Given the description of an element on the screen output the (x, y) to click on. 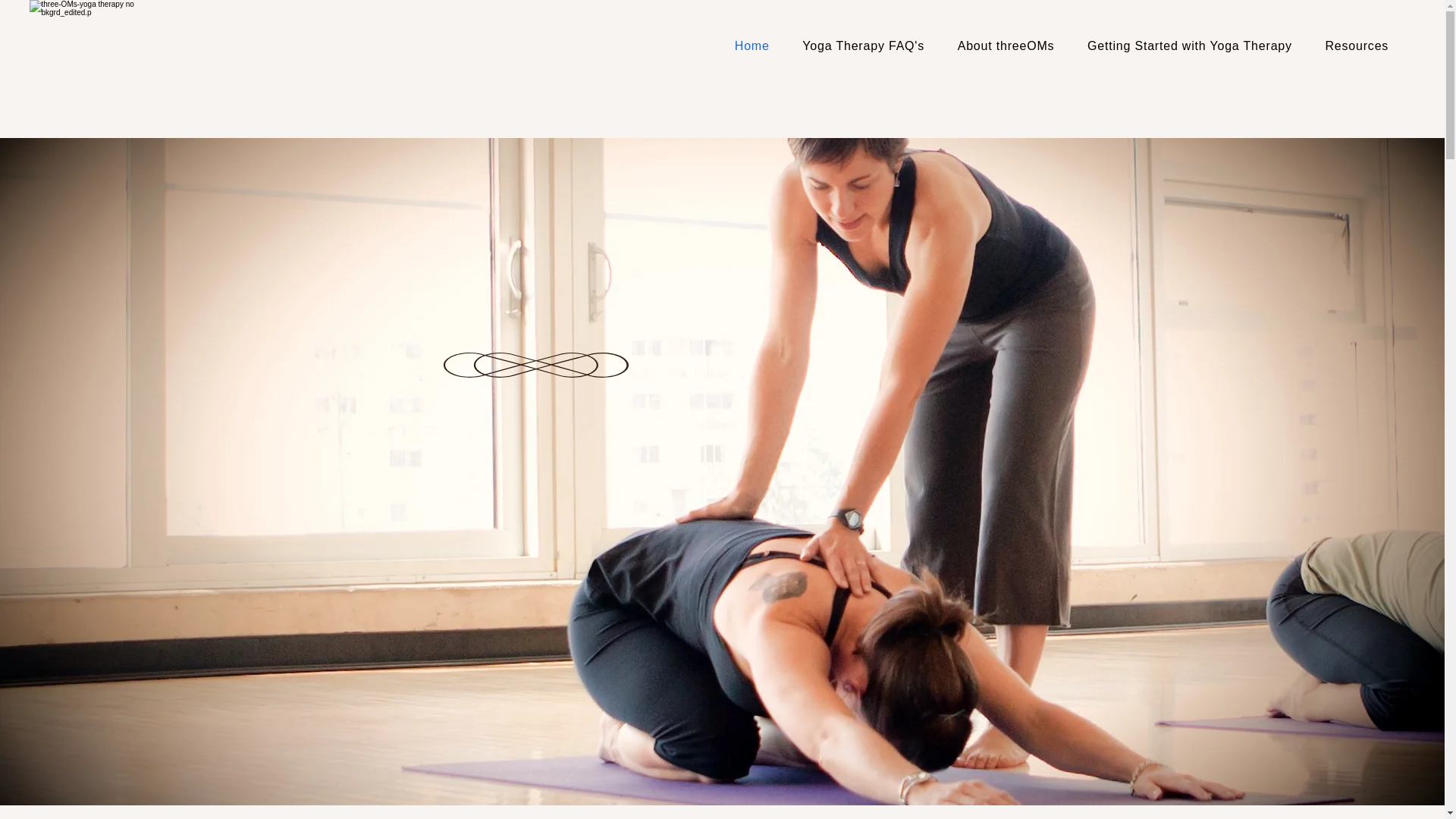
Getting Started with Yoga Therapy (1189, 45)
Resources (1356, 45)
Home (751, 45)
Yoga Therapy FAQ's (863, 45)
About threeOMs (1005, 45)
